Given the description of an element on the screen output the (x, y) to click on. 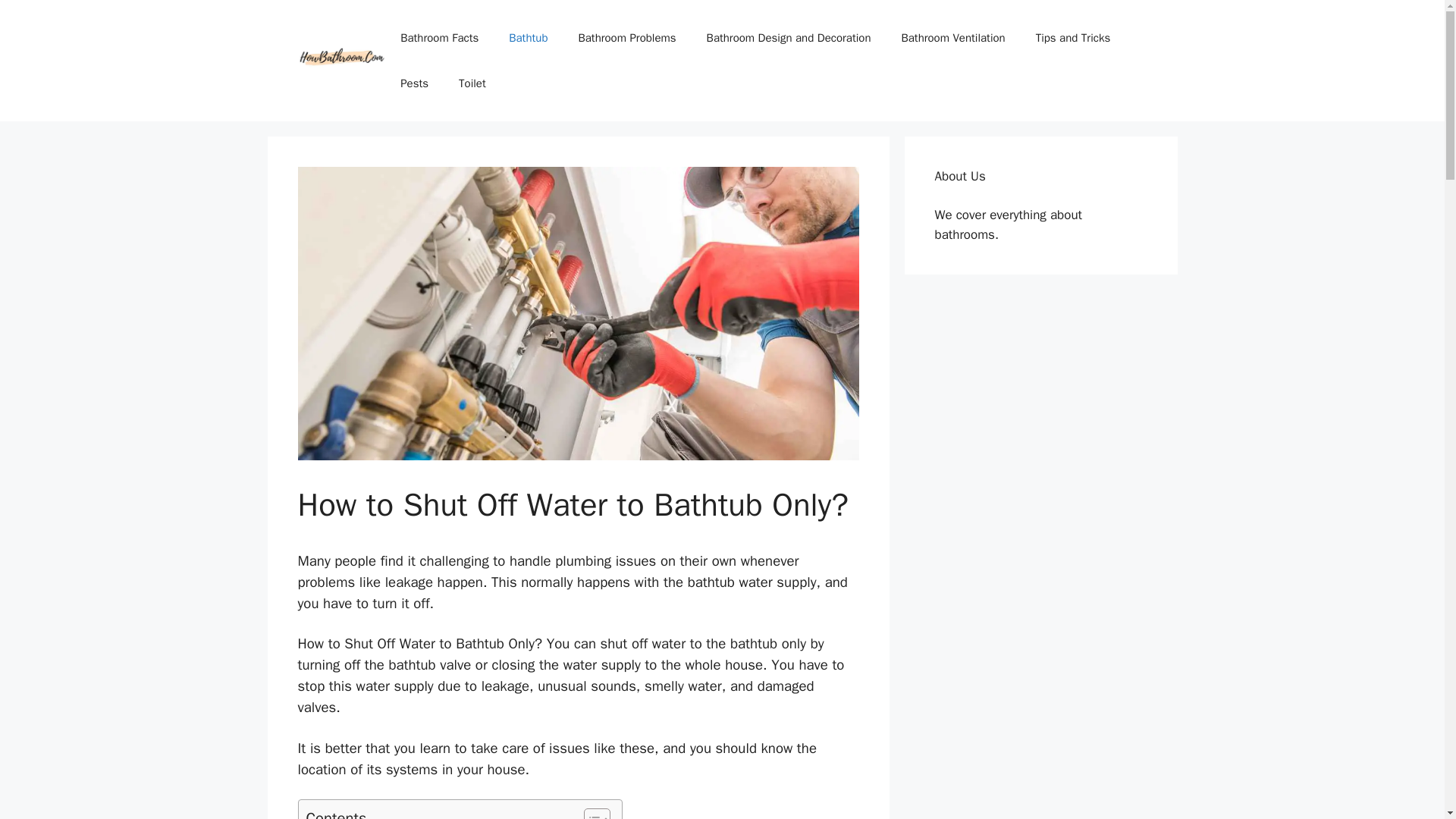
Tips and Tricks (1072, 37)
Bathroom Design and Decoration (788, 37)
Bathroom Ventilation (952, 37)
Bathtub (527, 37)
Bathroom Problems (626, 37)
Bathroom Facts (439, 37)
Toilet (472, 83)
Pests (414, 83)
